Given the description of an element on the screen output the (x, y) to click on. 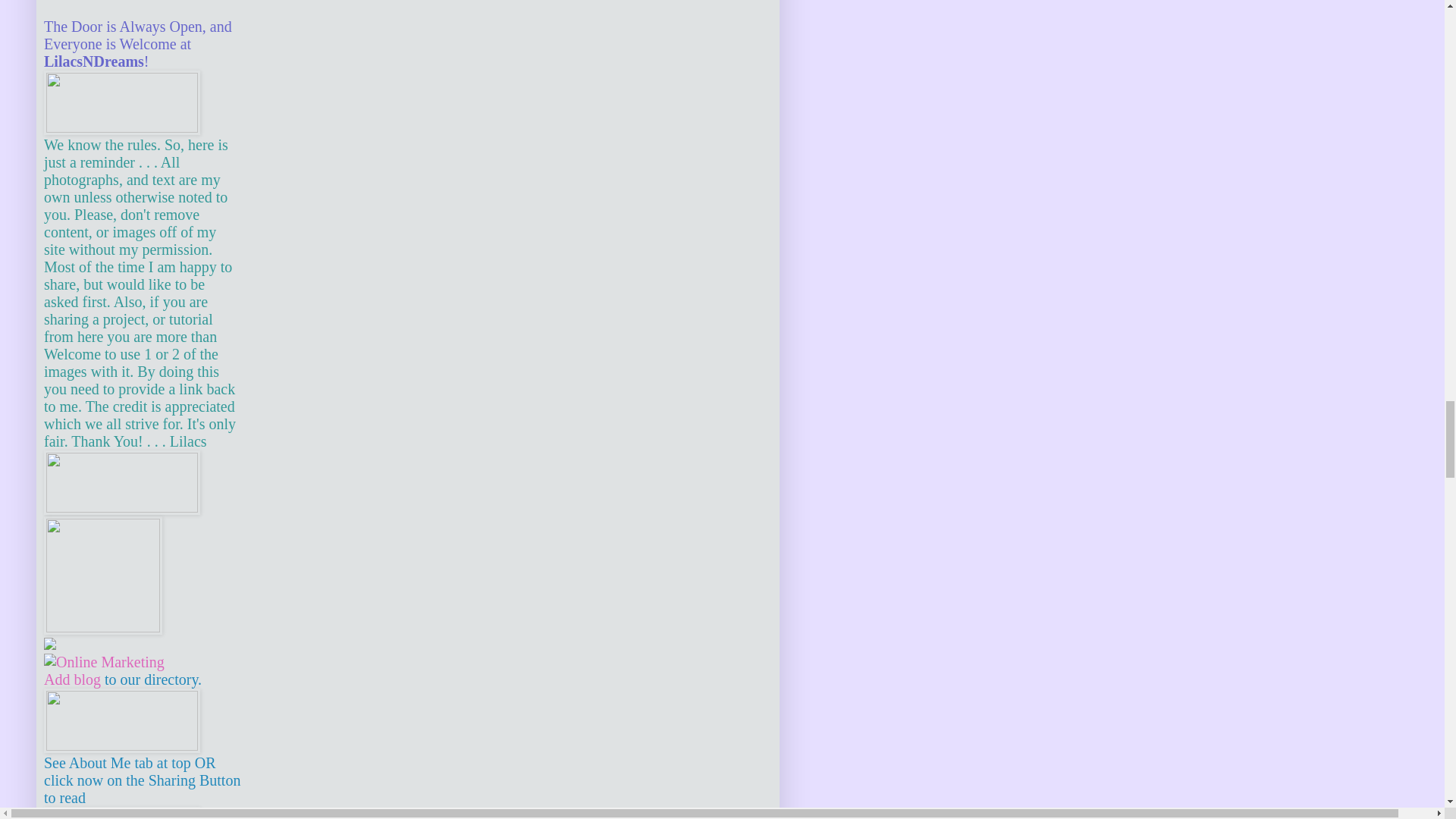
Online Marketing (103, 661)
add blog (71, 678)
